Given the description of an element on the screen output the (x, y) to click on. 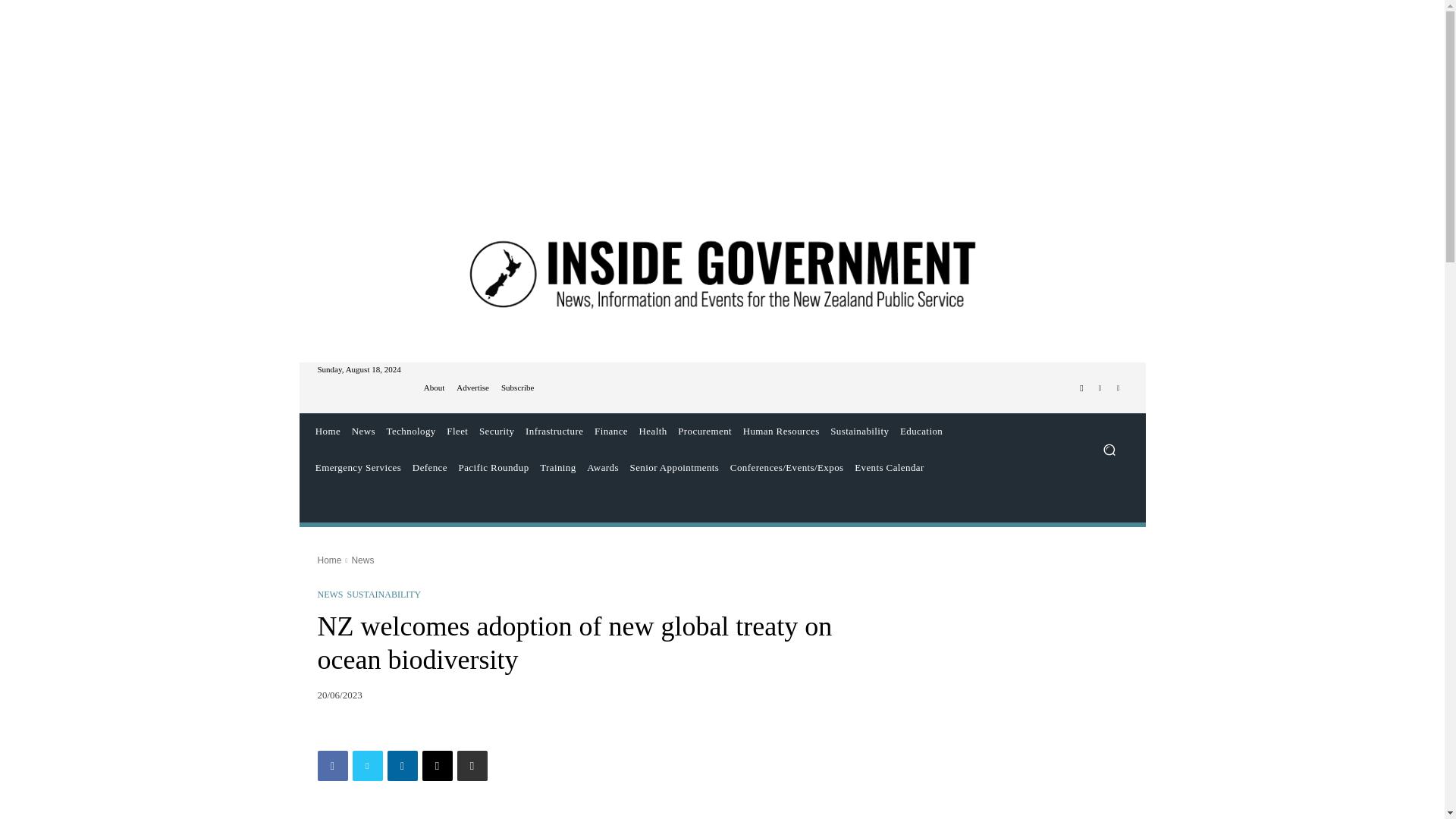
Linkedin (401, 766)
Sustainability (860, 431)
News (363, 431)
About (434, 388)
Advertise (473, 388)
Print (471, 766)
Technology (410, 431)
Security (496, 431)
Health (652, 431)
